Given the description of an element on the screen output the (x, y) to click on. 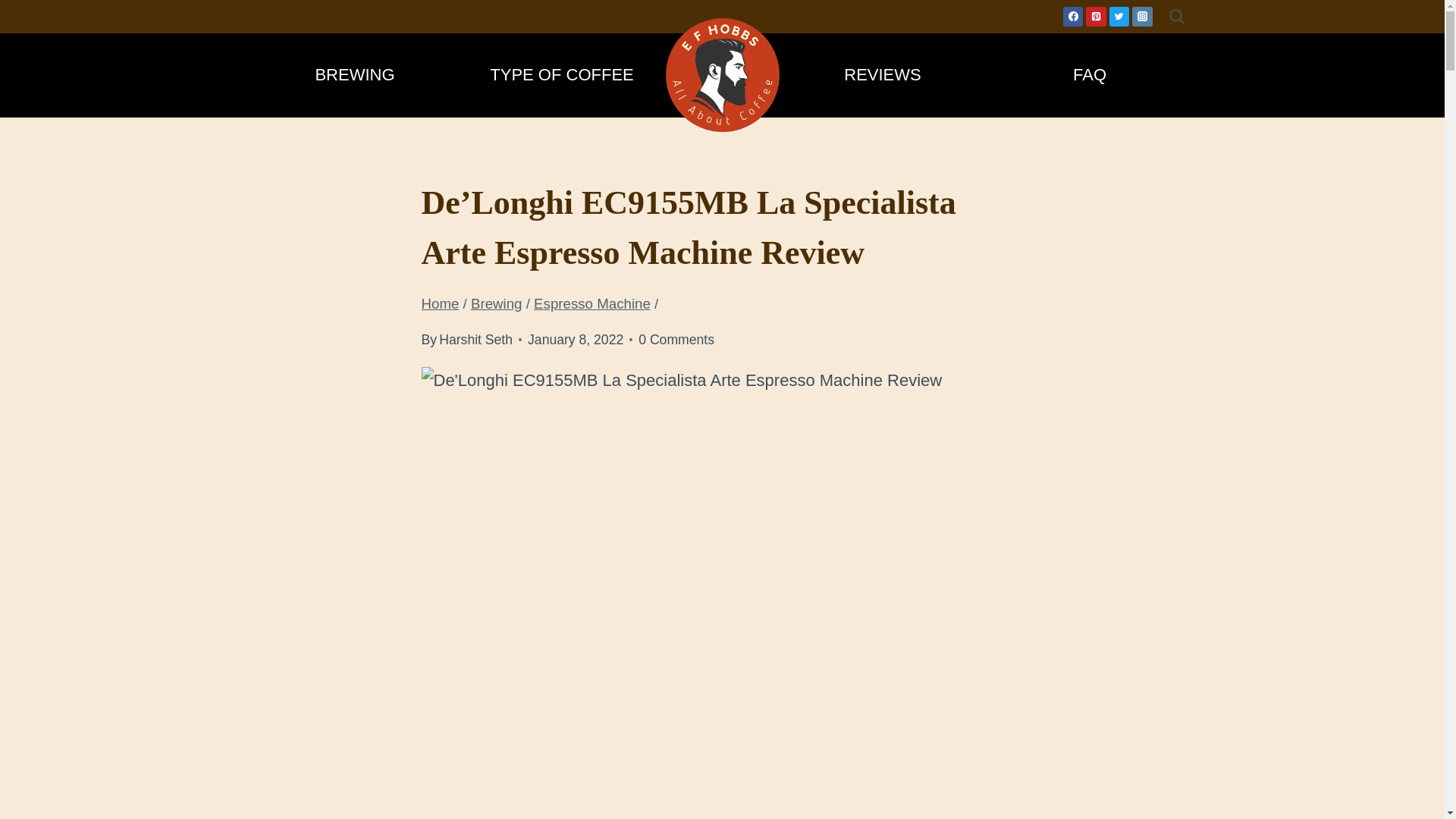
REVIEWS (882, 74)
Harshit Seth (475, 339)
Espresso Machine (592, 303)
Home (441, 303)
Brewing (496, 303)
BREWING (354, 74)
0 Comments (676, 339)
0 Comments (676, 339)
FAQ (1088, 74)
